Given the description of an element on the screen output the (x, y) to click on. 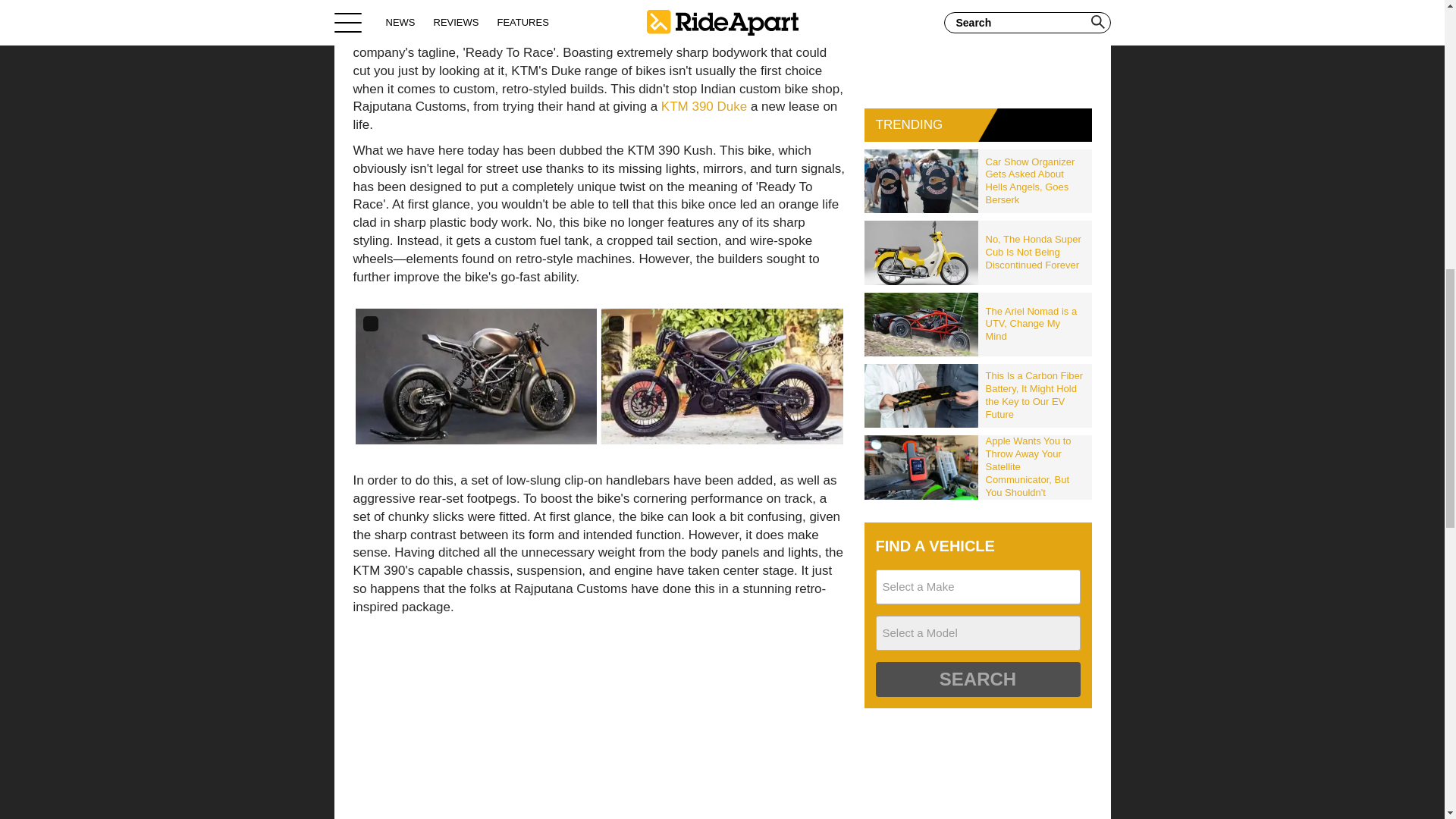
Search (977, 678)
No, The Honda Super Cub Is Not Being Discontinued Forever (1035, 252)
KTM 390 Duke (703, 106)
KTM (366, 34)
